Given the description of an element on the screen output the (x, y) to click on. 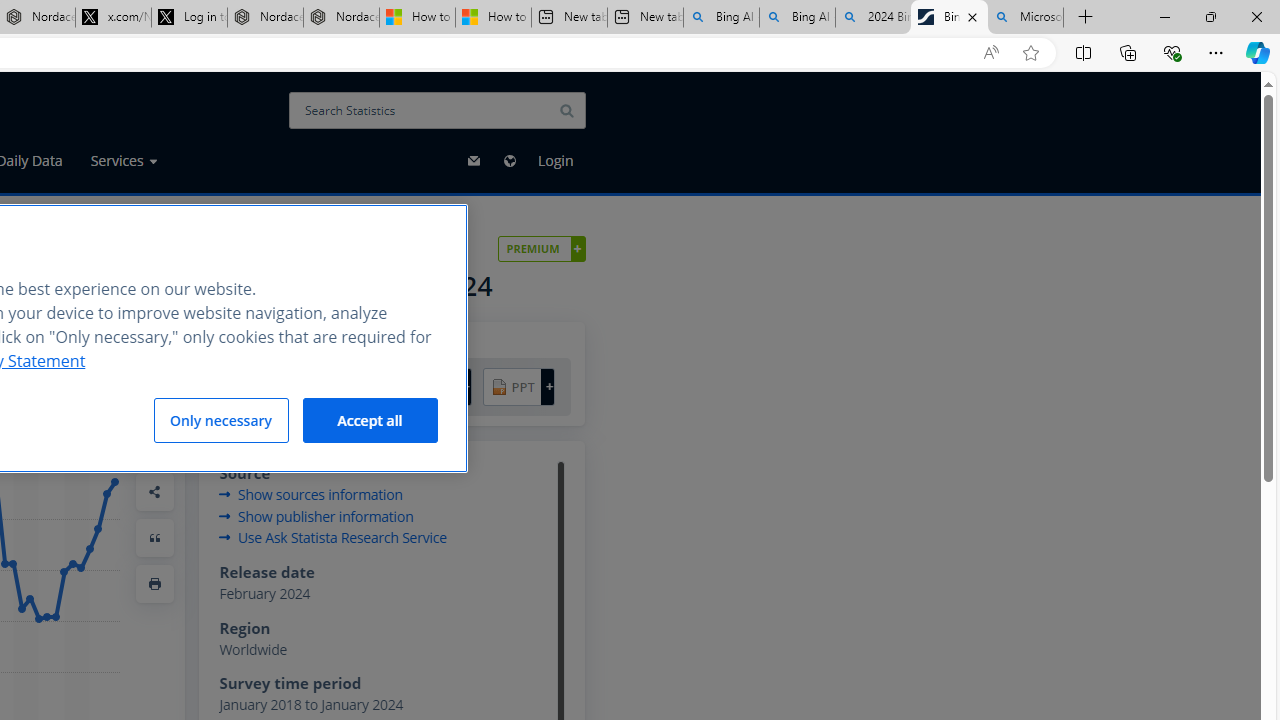
Our Expert Newsletter (473, 161)
Select language (508, 161)
